Given the description of an element on the screen output the (x, y) to click on. 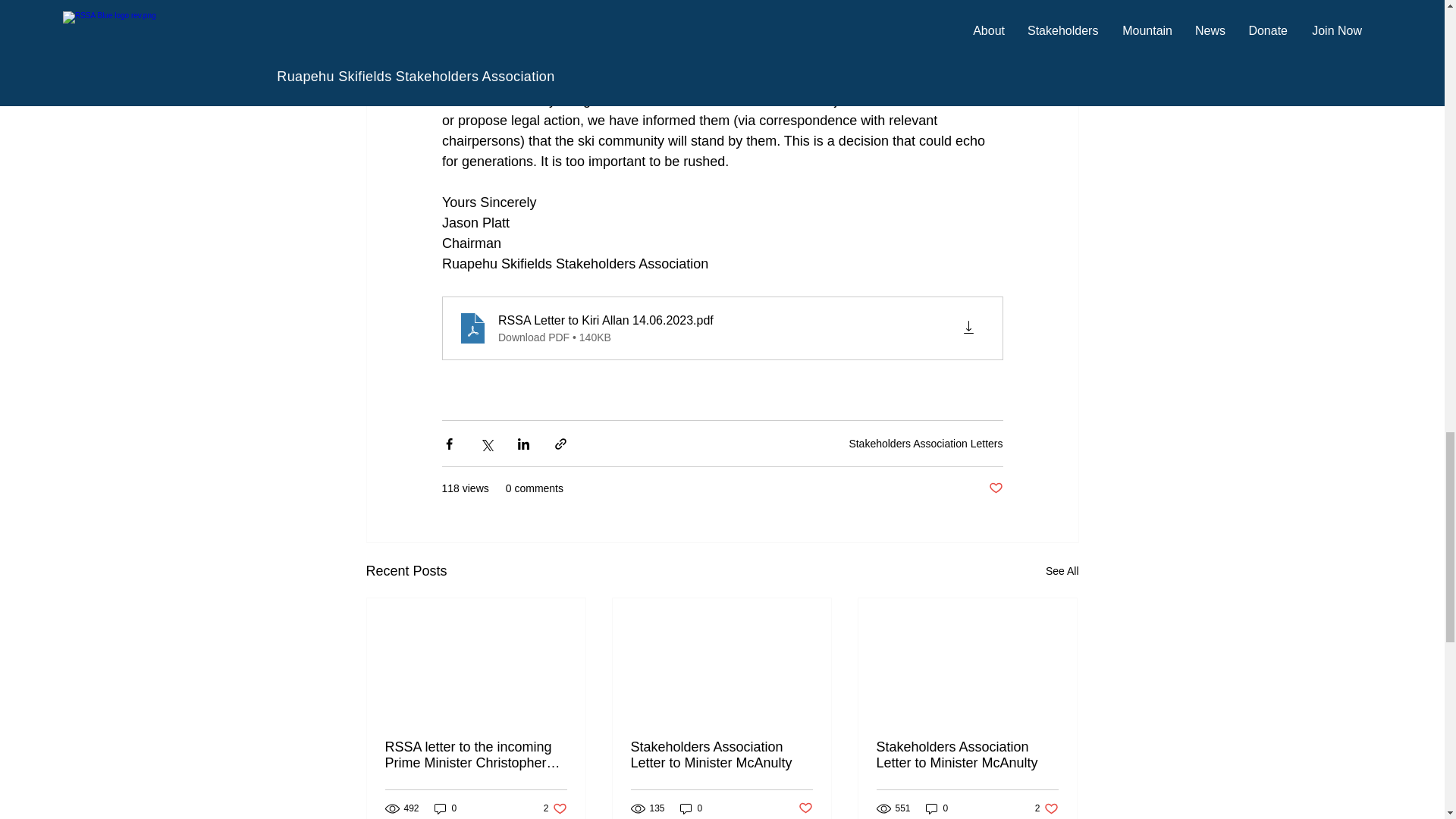
Stakeholders Association Letters (925, 443)
Post not marked as liked (995, 488)
See All (1061, 571)
0 (445, 808)
RSSA letter to the incoming Prime Minister Christopher Luxon (476, 755)
